Given the description of an element on the screen output the (x, y) to click on. 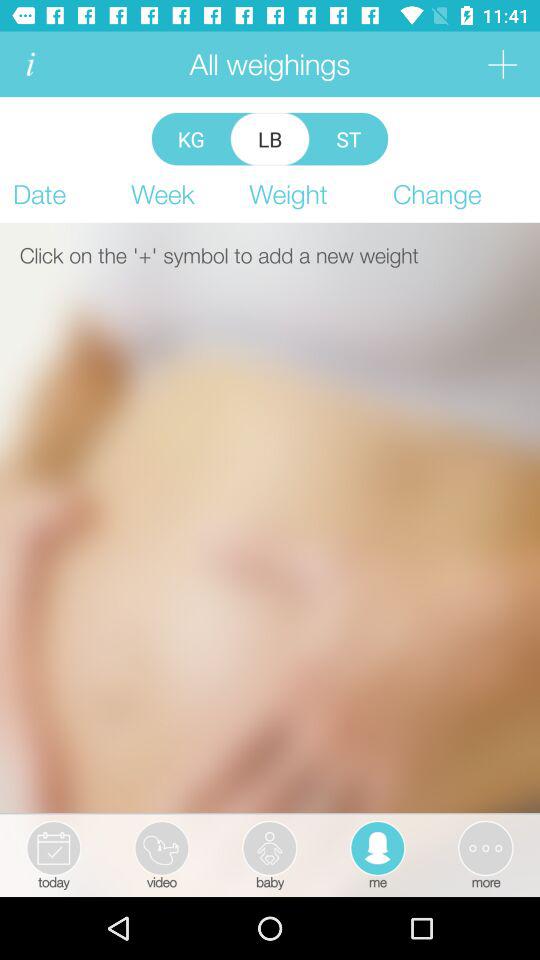
press item to the left of st item (269, 138)
